Given the description of an element on the screen output the (x, y) to click on. 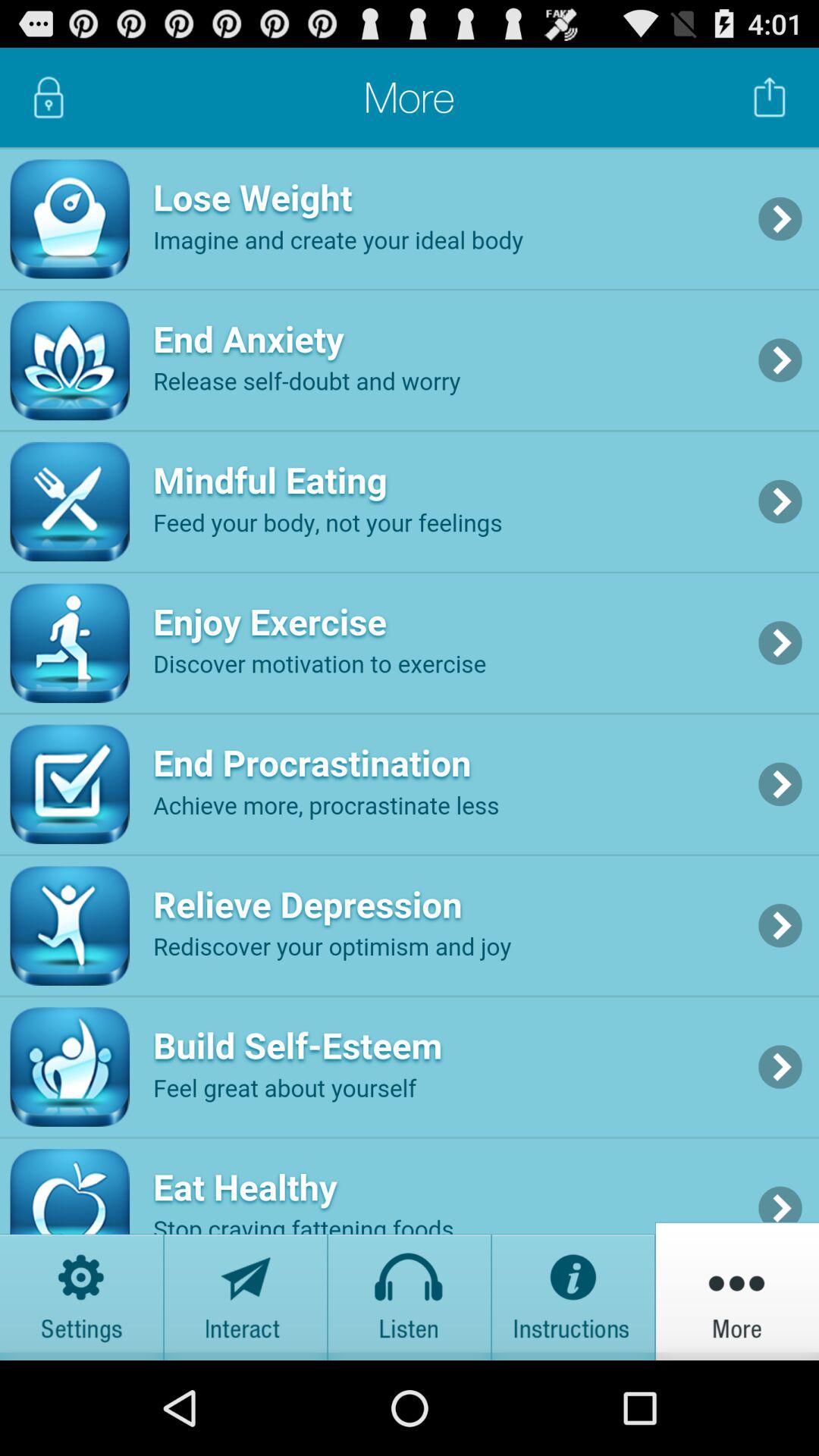
lock settings (49, 97)
